Given the description of an element on the screen output the (x, y) to click on. 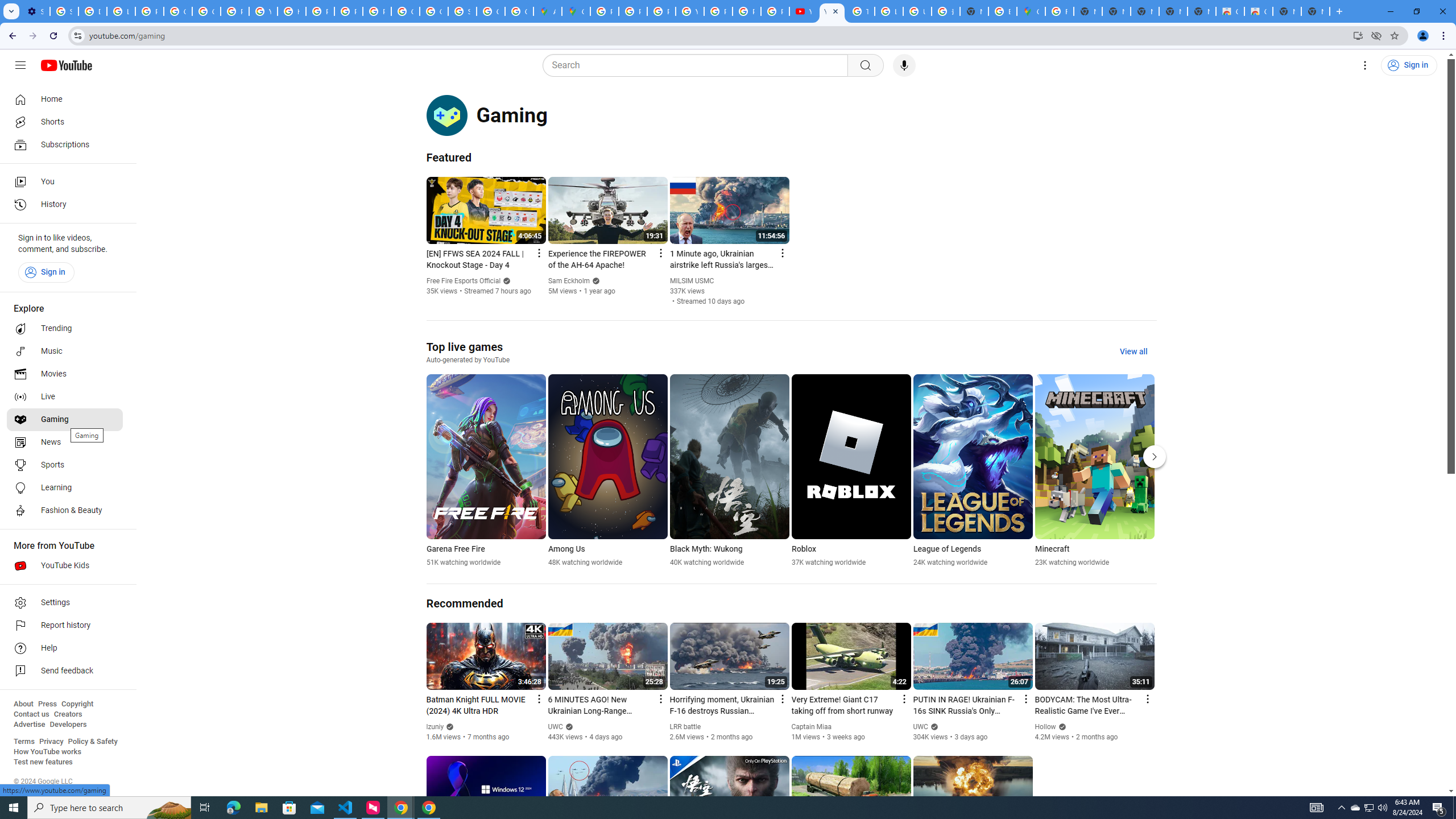
YouTube (831, 11)
Action menu (1146, 698)
Google Maps (1030, 11)
Hollow (1046, 726)
Delete photos & videos - Computer - Google Photos Help (92, 11)
Privacy Help Center - Policies Help (661, 11)
Sam Eckholm (568, 280)
Subscriptions (64, 144)
MILSIM USMC (691, 280)
